Given the description of an element on the screen output the (x, y) to click on. 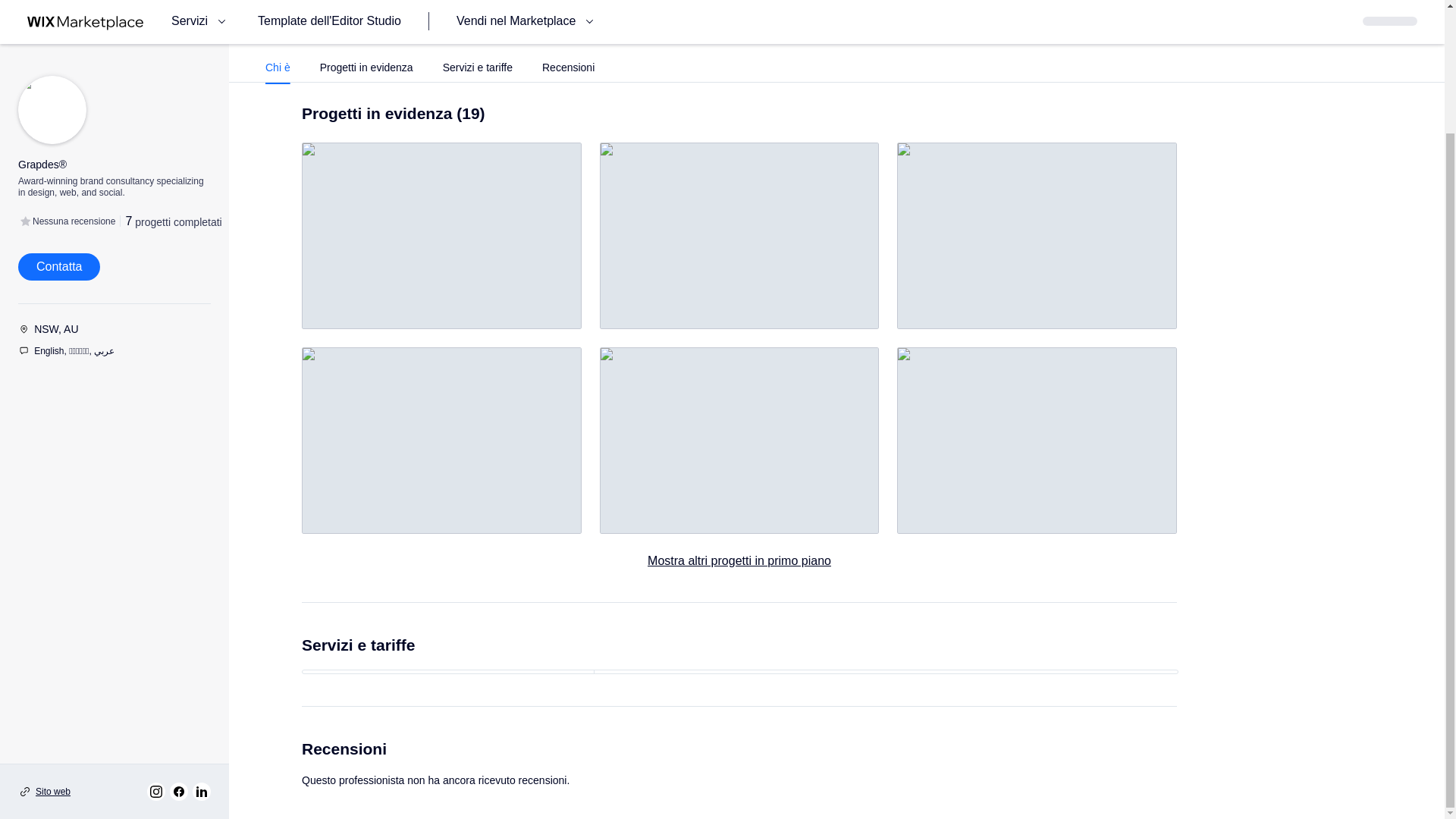
Mostra altri progetti in primo piano (739, 561)
Contatta (58, 118)
Sito web (51, 643)
